Given the description of an element on the screen output the (x, y) to click on. 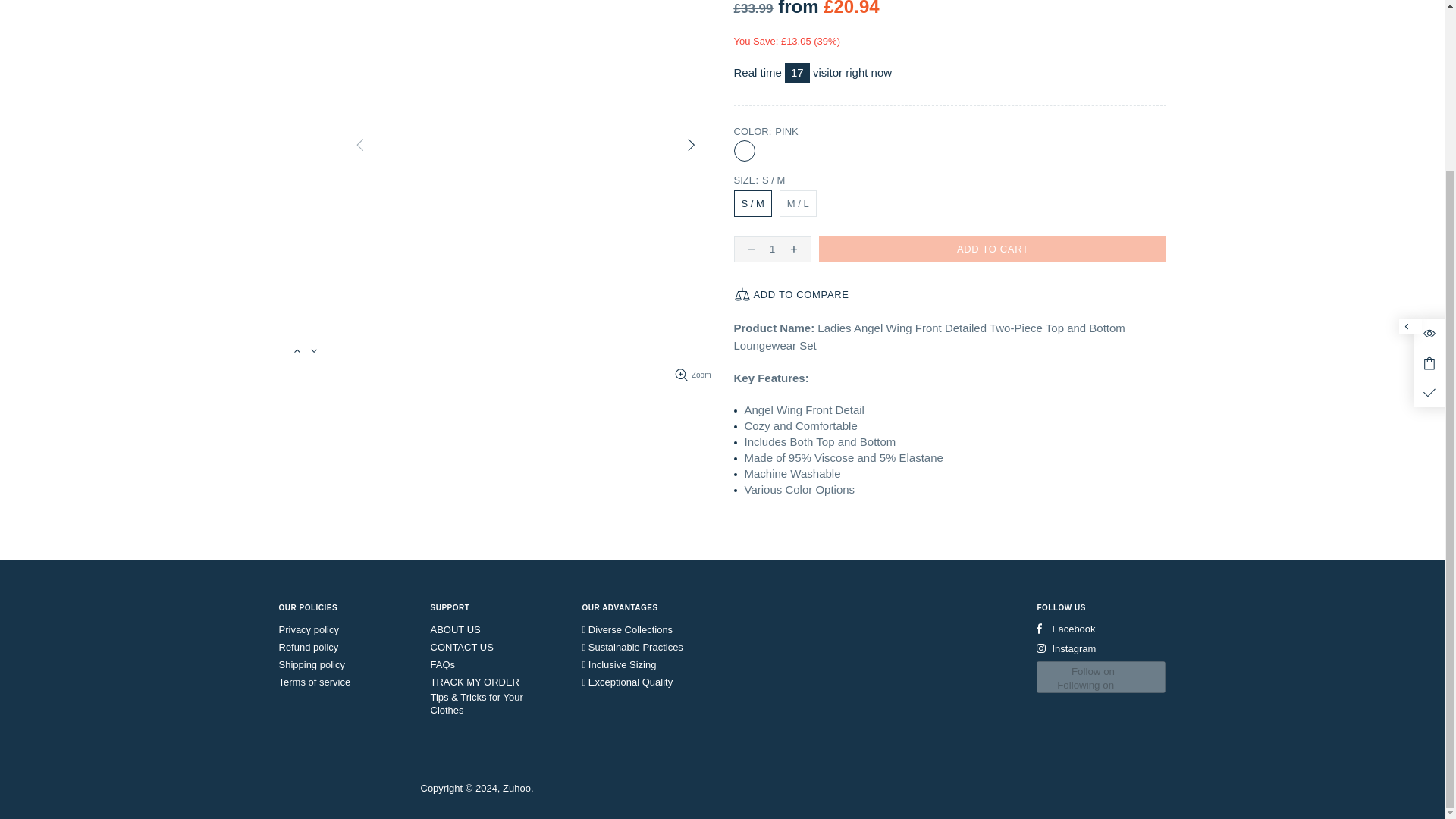
1 (771, 248)
